Given the description of an element on the screen output the (x, y) to click on. 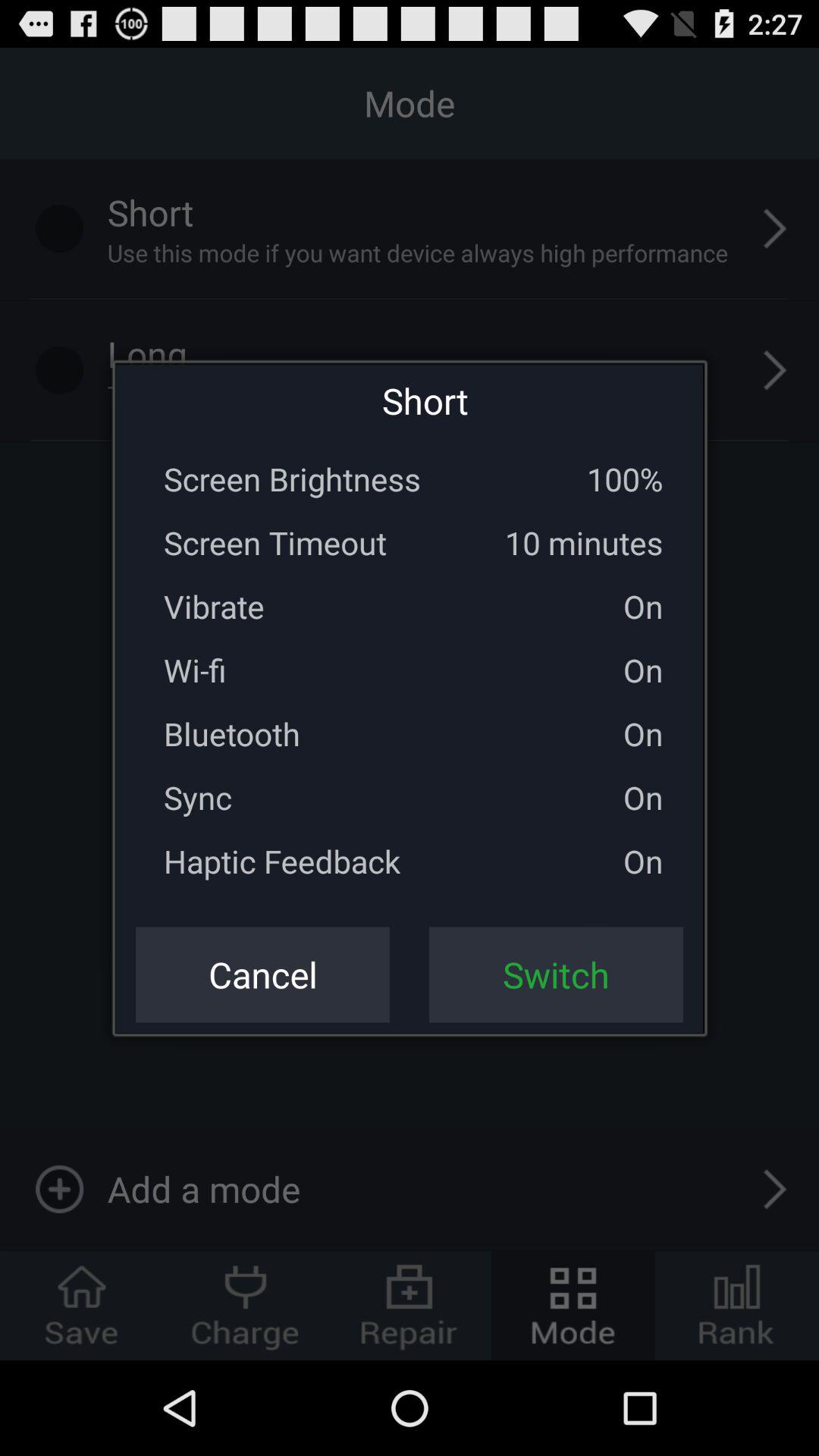
select the button at the bottom right corner (556, 974)
